Given the description of an element on the screen output the (x, y) to click on. 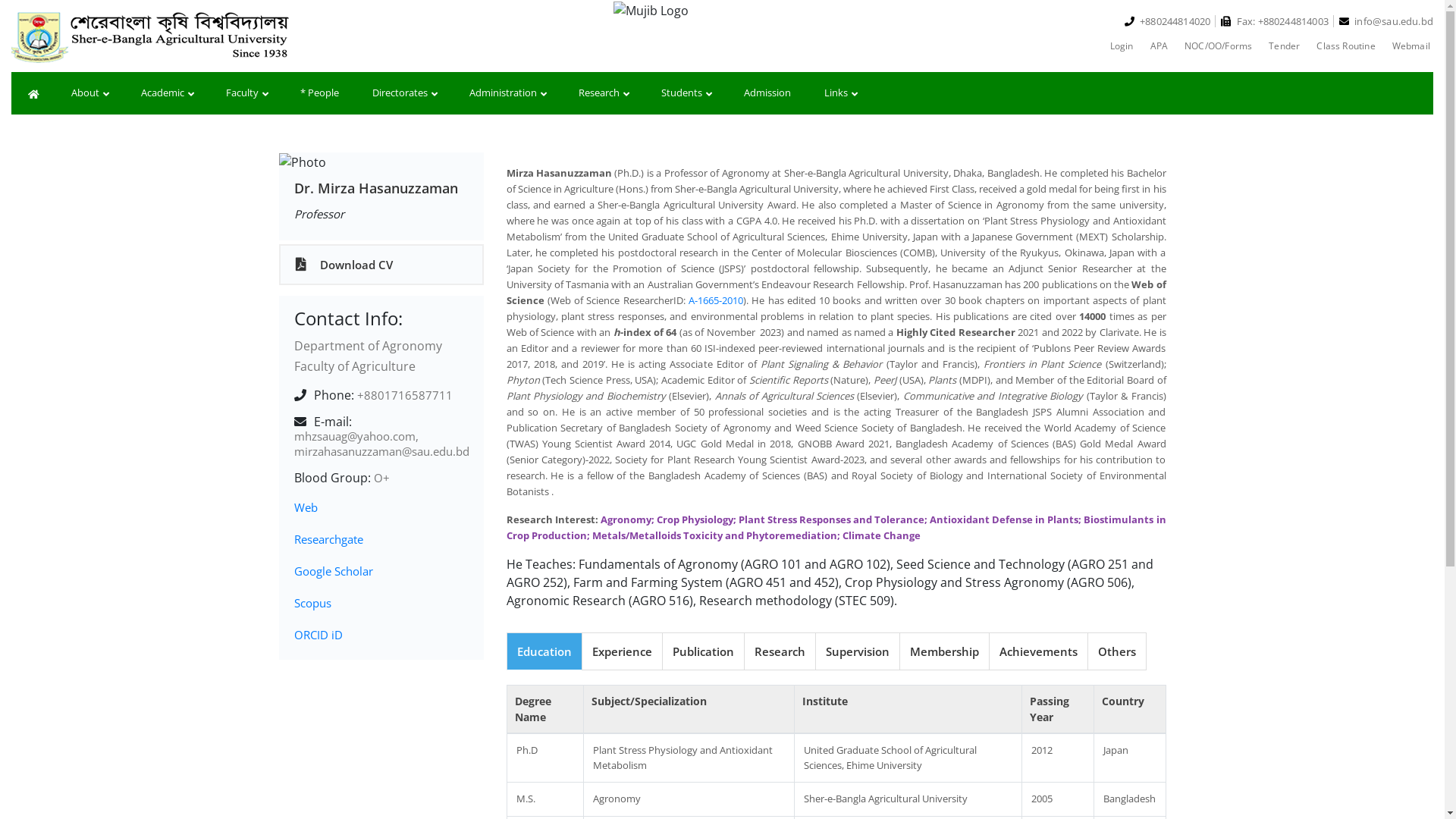
Class Routine Element type: text (1345, 45)
Administration Element type: text (507, 93)
ORCID iD Element type: text (318, 634)
Publication Element type: text (702, 651)
Login Element type: text (1121, 45)
Google Scholar Element type: text (333, 570)
Membership Element type: text (944, 651)
APA Element type: text (1159, 45)
Researchgate Element type: text (328, 538)
Experience Element type: text (621, 651)
Directorates Element type: text (404, 93)
Web Element type: text (305, 506)
Faculty Element type: text (246, 93)
Tender Element type: text (1283, 45)
Education Element type: text (544, 651)
* People Element type: text (319, 93)
Links Element type: text (840, 93)
Webmail Element type: text (1411, 45)
Research Element type: text (779, 651)
Supervision Element type: text (856, 651)
Students Element type: text (685, 93)
Scopus Element type: text (312, 602)
Academic Element type: text (166, 93)
Research Element type: text (603, 93)
NOC/OO/Forms Element type: text (1218, 45)
Download CV Element type: text (381, 264)
Others Element type: text (1116, 651)
Admission Element type: text (767, 93)
About Element type: text (89, 93)
Achievements Element type: text (1038, 651)
A-1665-2010 Element type: text (714, 299)
